Given the description of an element on the screen output the (x, y) to click on. 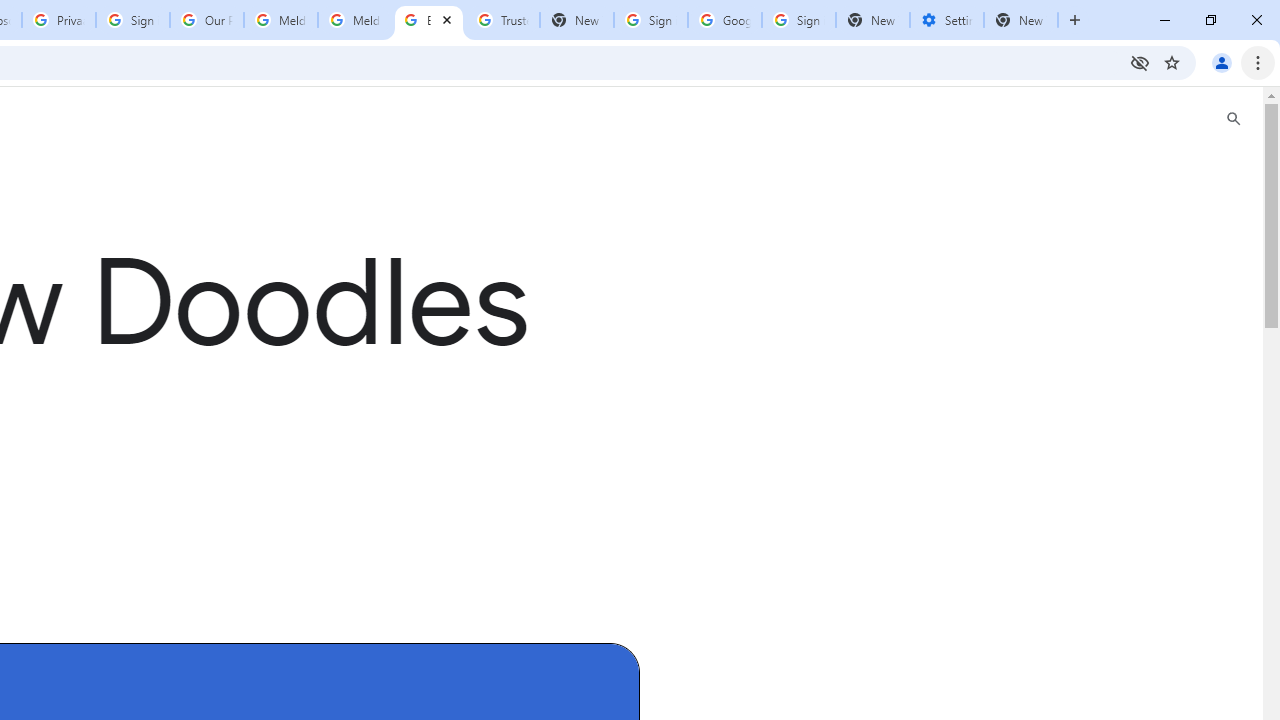
Third-party cookies blocked (1139, 62)
New Tab (872, 20)
Settings - Addresses and more (947, 20)
New Tab (1021, 20)
Search (1233, 119)
Sign in - Google Accounts (651, 20)
Trusted Information and Content - Google Safety Center (502, 20)
